Given the description of an element on the screen output the (x, y) to click on. 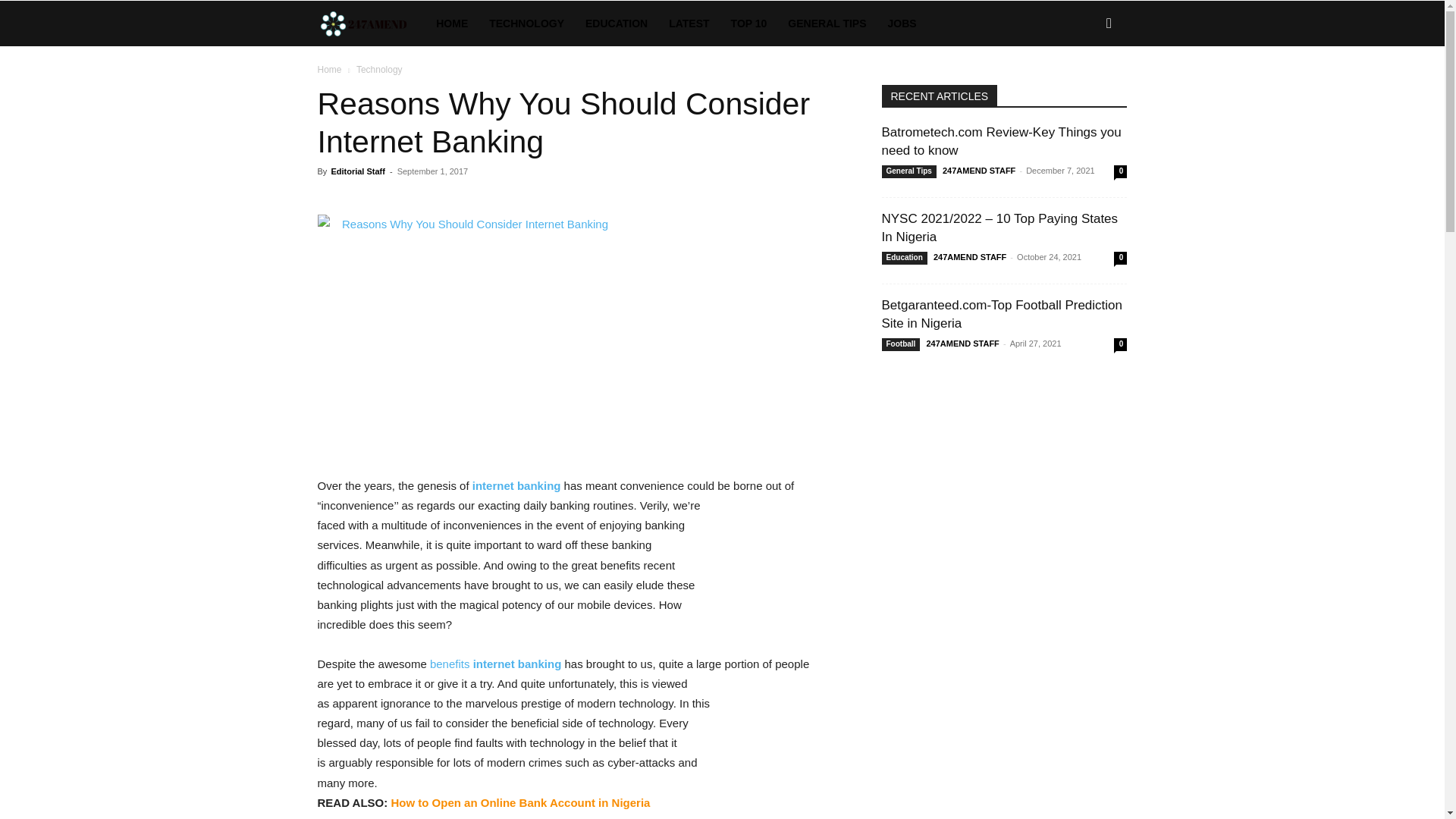
Search (1085, 88)
benefits internet banking (494, 663)
Batrometech.com Review-Key Things you need to know (1000, 141)
HOME (452, 22)
Home (328, 69)
Betgaranteed.com-Top Football Prediction Site in Nigeria (1001, 314)
TOP 10 (748, 22)
How to Open an Online Bank Account in Nigeria (519, 802)
GENERAL TIPS (826, 22)
JOBS (902, 22)
